Given the description of an element on the screen output the (x, y) to click on. 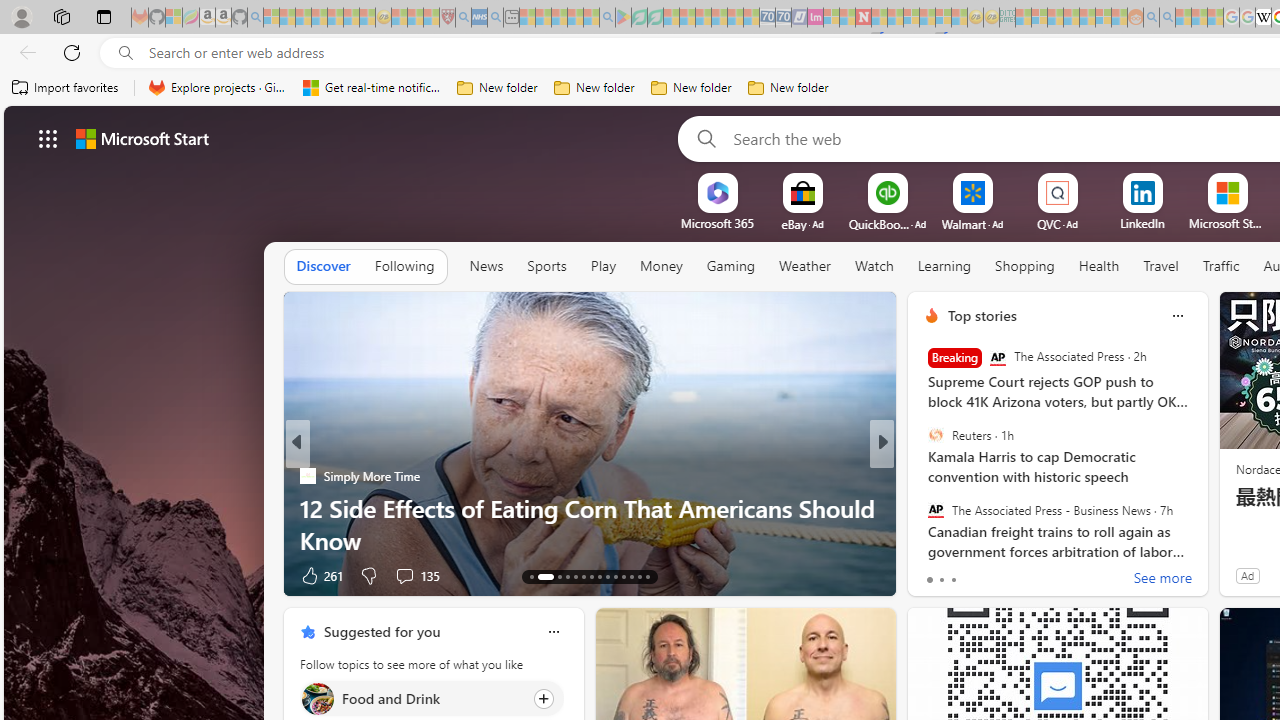
View comments 84 Comment (1019, 575)
App launcher (47, 138)
Body Network (923, 475)
DITOGAMES AG Imprint - Sleeping (1007, 17)
Microsoft start (142, 138)
tab-1 (941, 579)
Health Digest (307, 507)
More options (553, 631)
AutomationID: tab-16 (567, 576)
AutomationID: tab-24 (631, 576)
See more (1161, 579)
1k Like (317, 574)
View comments 81 Comment (1019, 575)
Trusted Community Engagement and Contributions | Guidelines (879, 17)
